Given the description of an element on the screen output the (x, y) to click on. 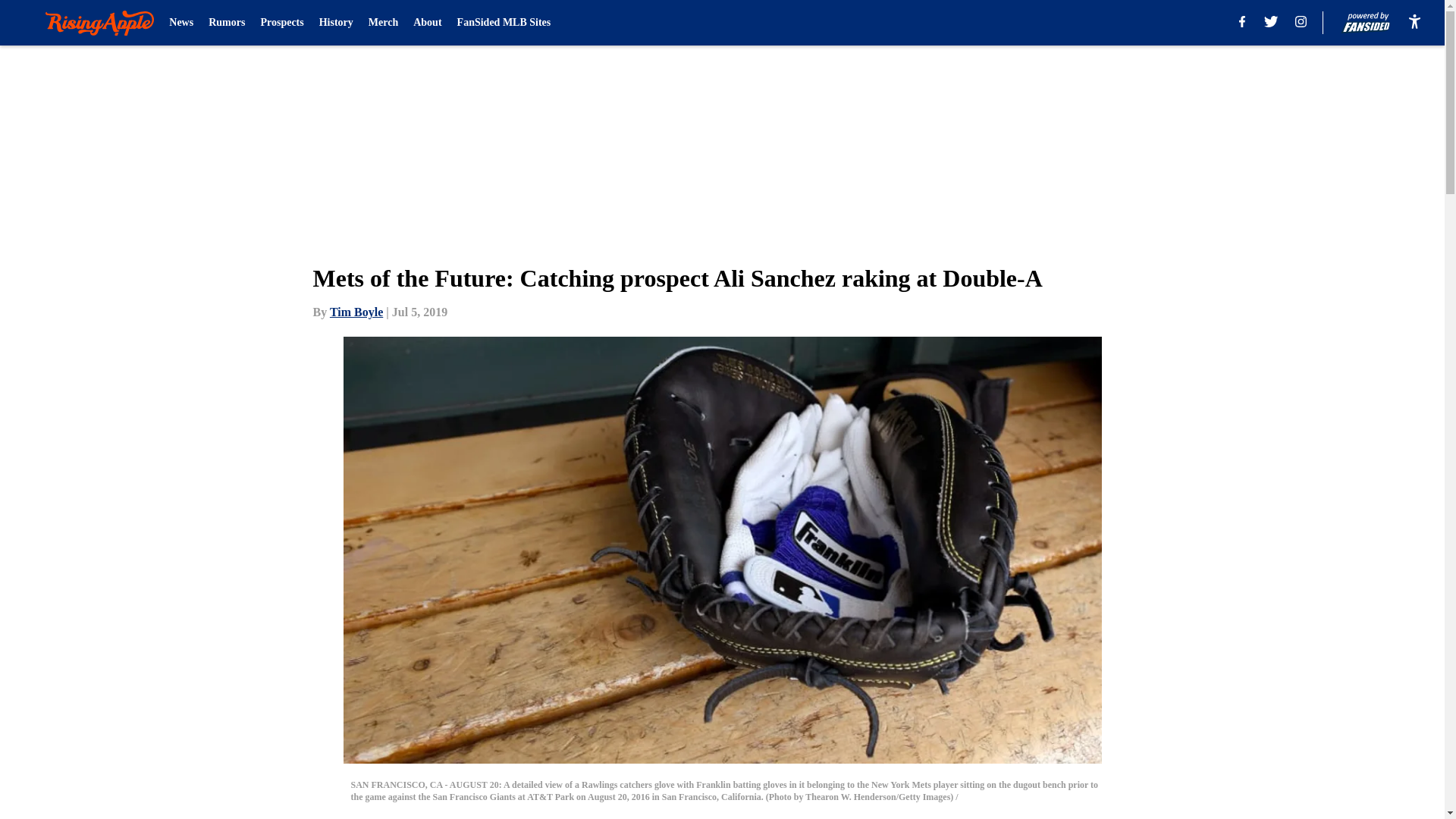
News (180, 22)
Prospects (281, 22)
Tim Boyle (356, 311)
FanSided MLB Sites (504, 22)
History (335, 22)
Merch (382, 22)
About (427, 22)
Rumors (226, 22)
